Given the description of an element on the screen output the (x, y) to click on. 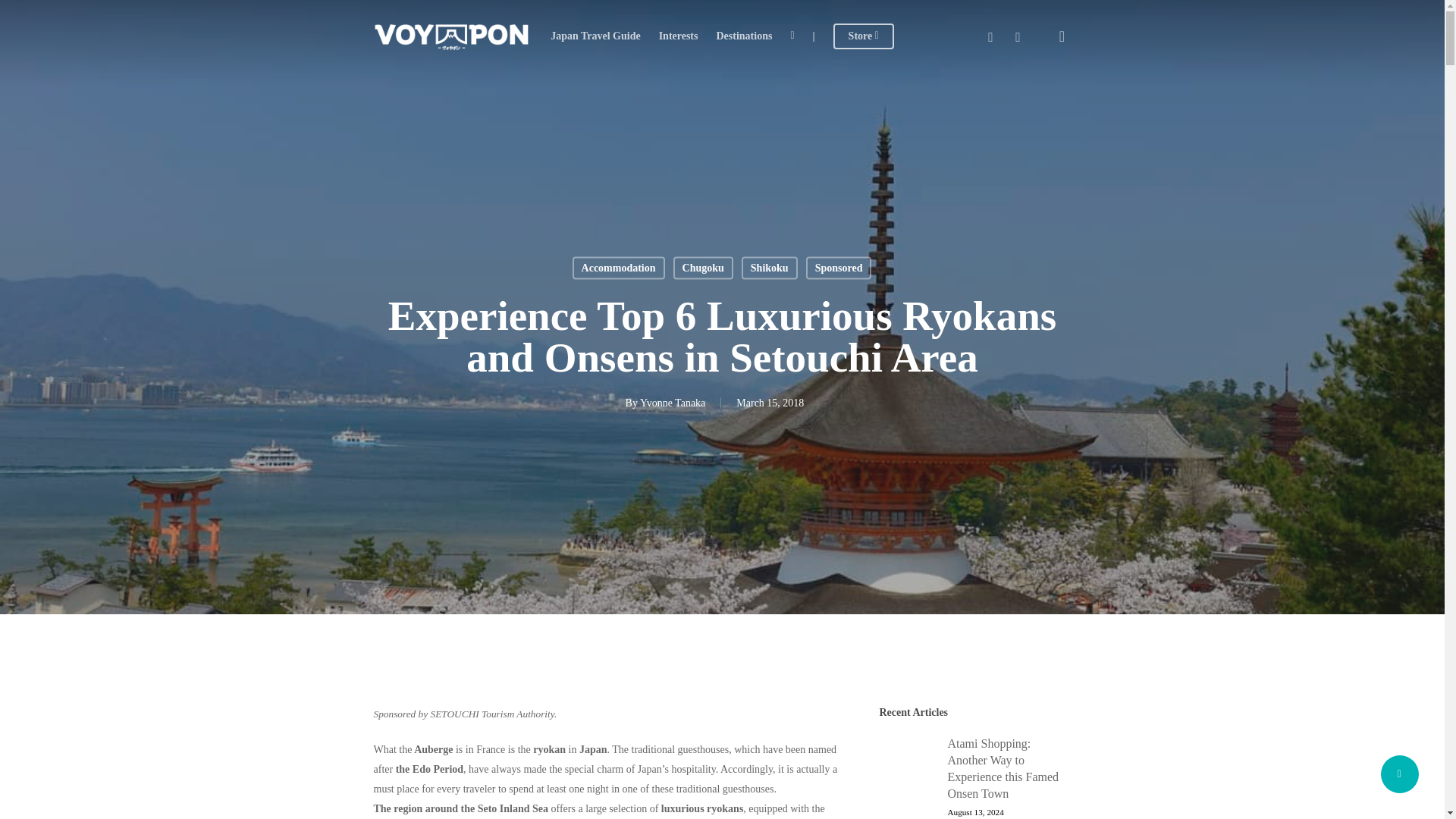
Store (862, 36)
Japan Travel Guide (595, 36)
Interests (678, 36)
Posts by Yvonne Tanaka (672, 402)
Destinations (743, 36)
